Given the description of an element on the screen output the (x, y) to click on. 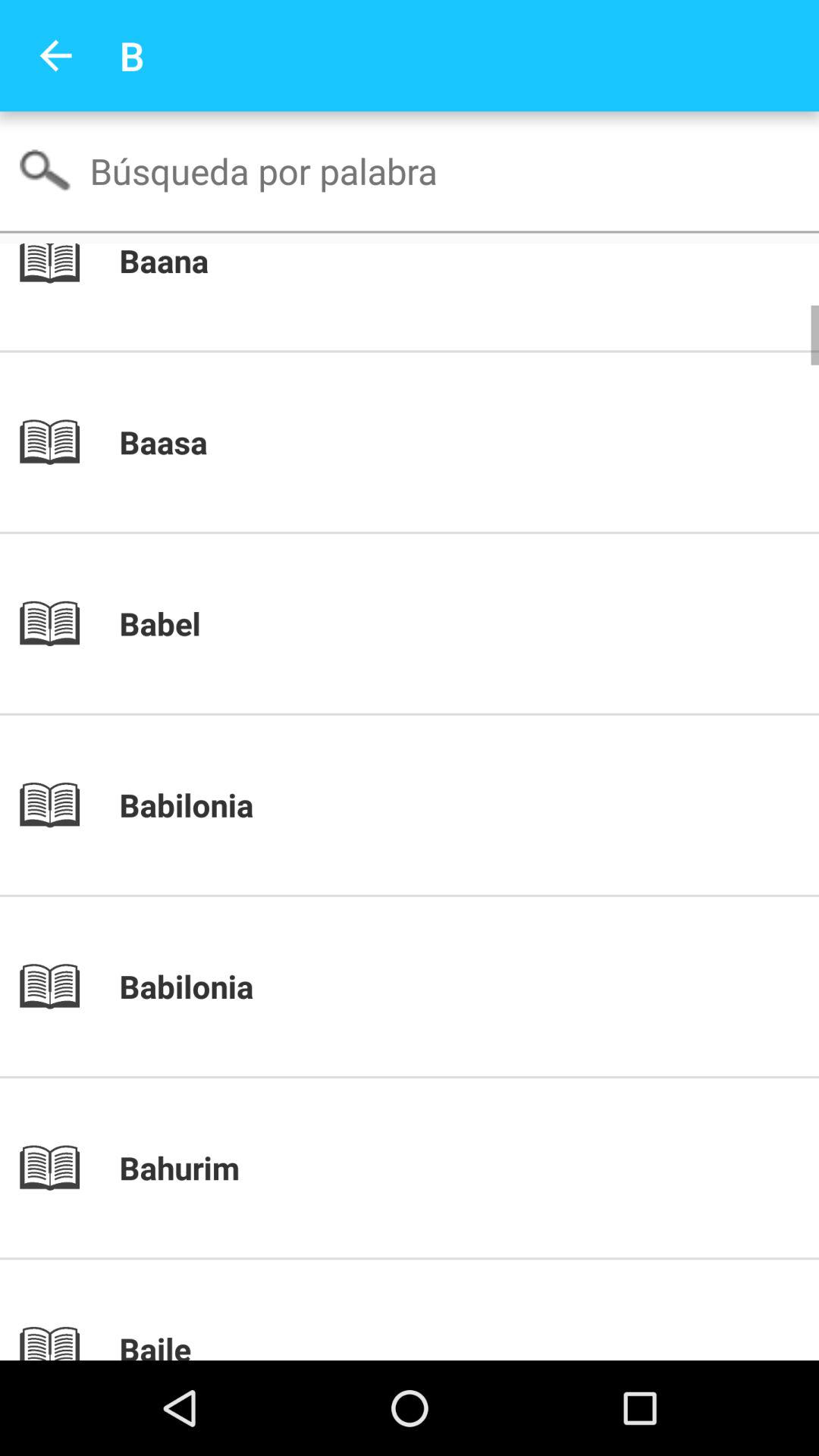
turn off baana (435, 262)
